Given the description of an element on the screen output the (x, y) to click on. 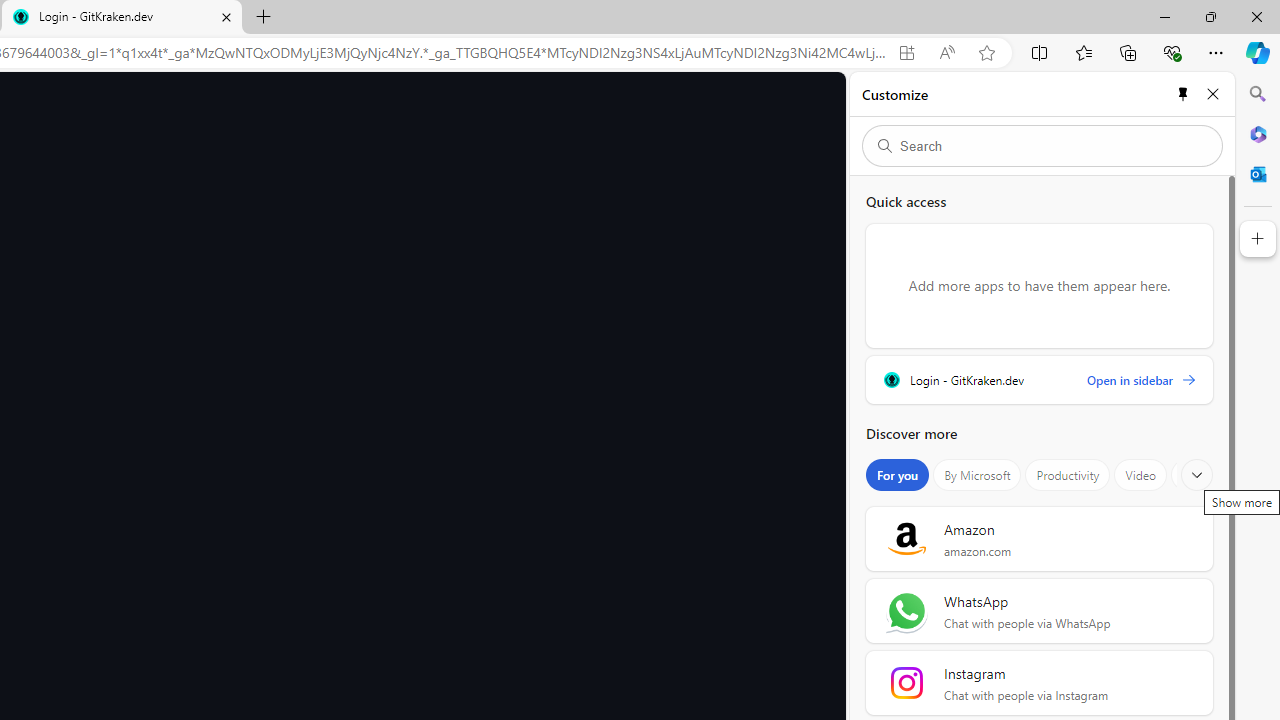
For you (898, 475)
Productivity (1068, 475)
By Microsoft (977, 475)
Show more (1197, 475)
